Given the description of an element on the screen output the (x, y) to click on. 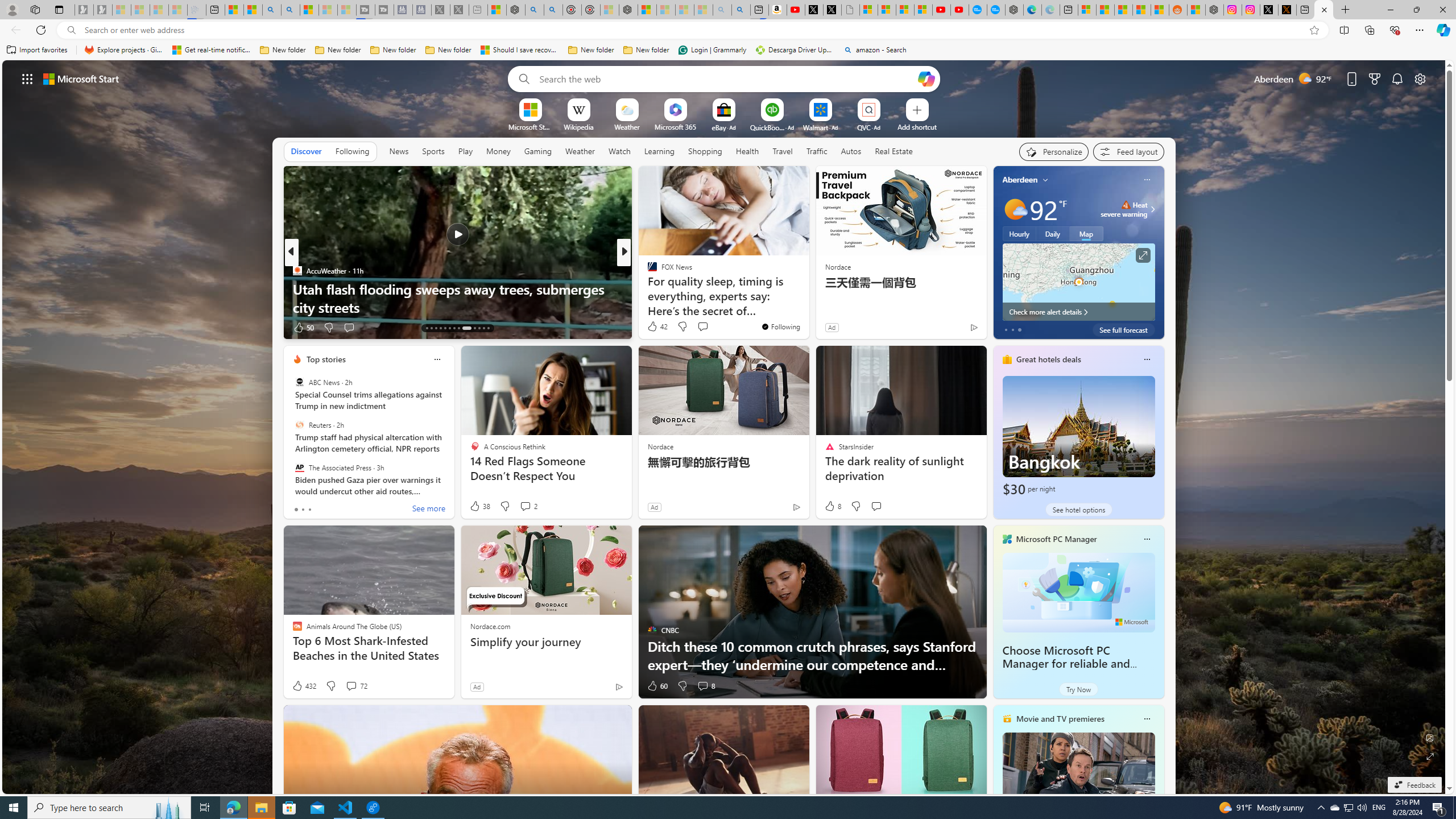
Feedback (1414, 784)
Real Estate (893, 151)
AutomationID: tab-25 (488, 328)
Try Now (1078, 689)
Day 1: Arriving in Yemen (surreal to be here) - YouTube (795, 9)
49 Like (652, 327)
Aberdeen (1019, 179)
Watch (619, 151)
View comments 8 Comment (703, 685)
AutomationID: tab-19 (454, 328)
View comments 4 Comment (702, 327)
